Given the description of an element on the screen output the (x, y) to click on. 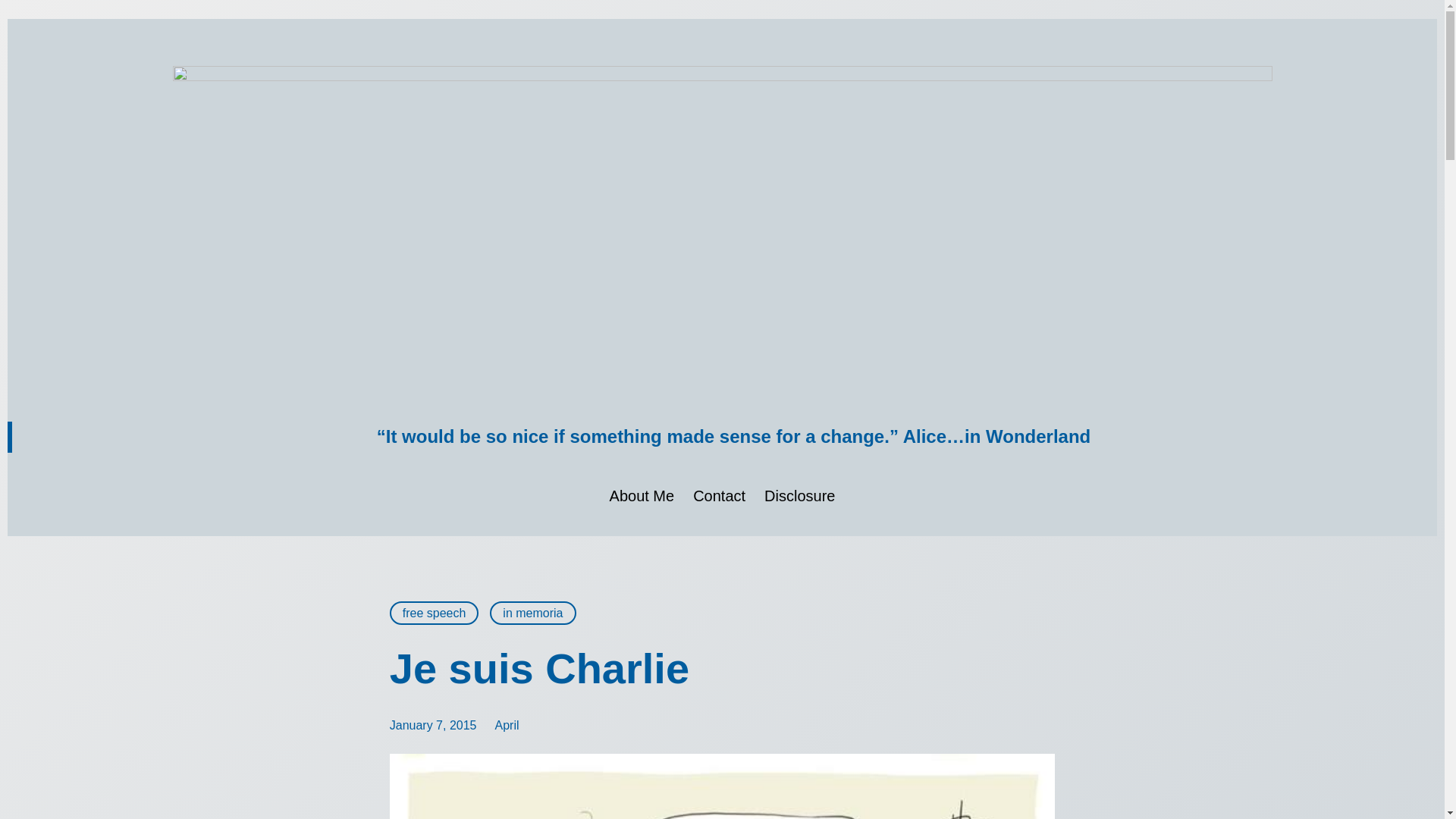
in memoria (532, 612)
free speech (434, 612)
About Me (642, 495)
Disclosure (799, 495)
Contact (719, 495)
